Given the description of an element on the screen output the (x, y) to click on. 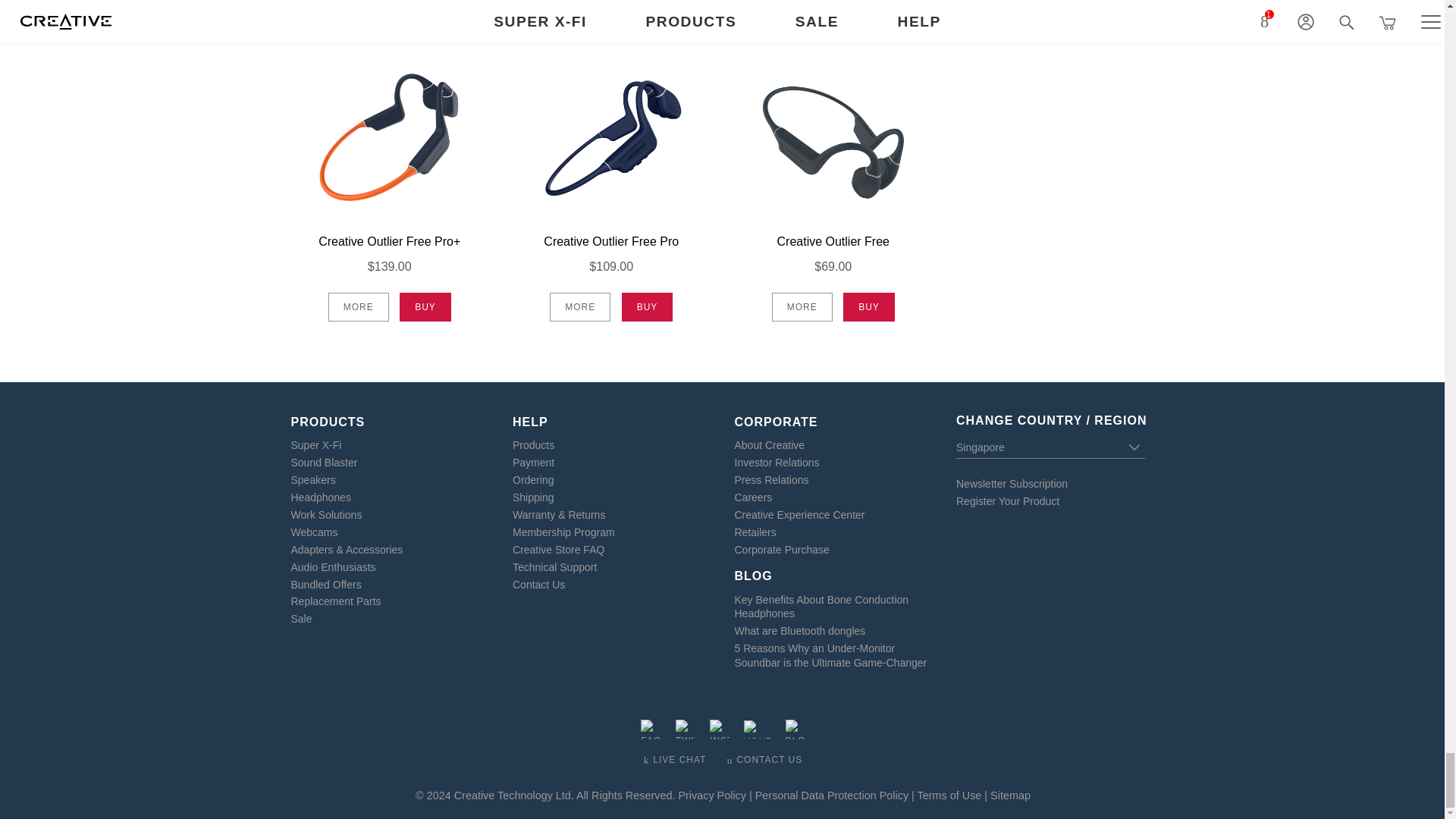
Singapore (1050, 446)
